Given the description of an element on the screen output the (x, y) to click on. 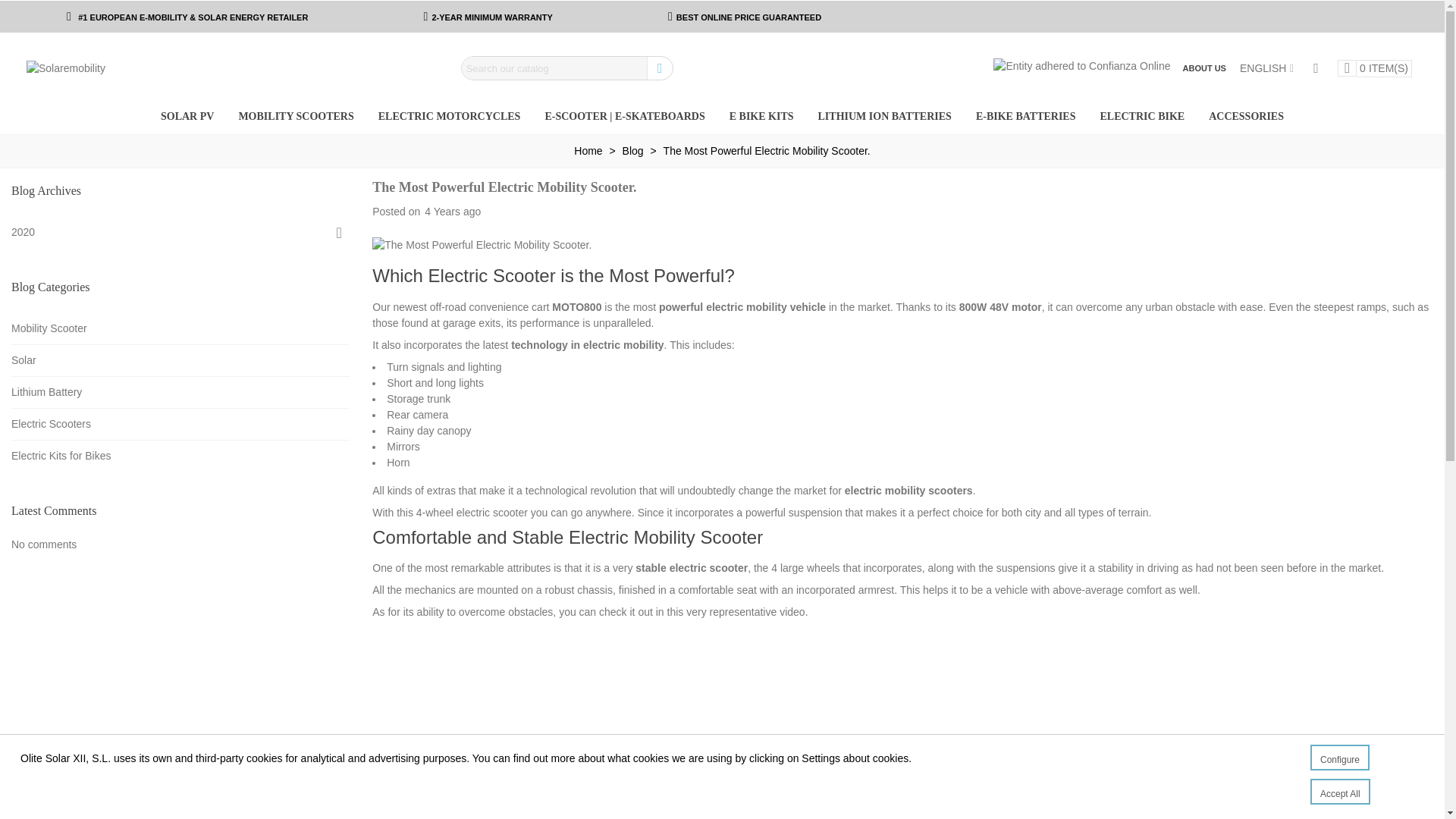
ABOUT US (1203, 68)
LITHIUM ION BATTERIES (884, 116)
MOBILITY SCOOTERS (295, 116)
Home (589, 150)
ELECTRIC MOTORCYCLES (449, 116)
ELECTRIC BIKE (1141, 116)
ACCESSORIES (1245, 116)
E BIKE KITS (761, 116)
MOBILITY SCOOTERS (295, 116)
Entity adhered to Confianza Online (1081, 64)
